Given the description of an element on the screen output the (x, y) to click on. 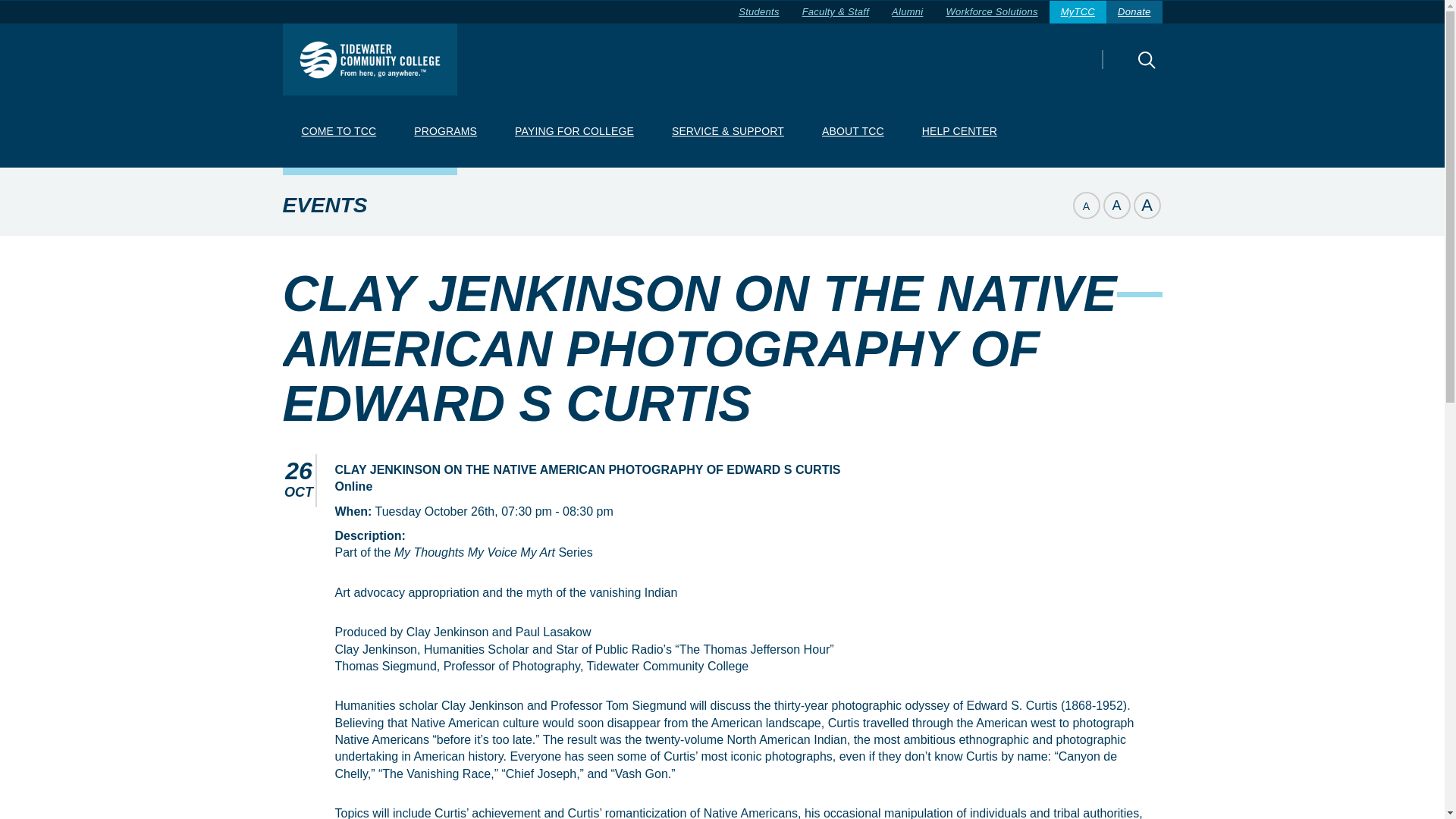
COME TO TCC (338, 131)
Set page copy to small size (1085, 205)
Set page copy to large size (1146, 205)
MyTCC (1077, 11)
Donate (1133, 11)
Set page copy to normal size (1115, 205)
Students (758, 11)
Workforce Solutions (991, 11)
PROGRAMS (445, 131)
Search (1119, 70)
